Given the description of an element on the screen output the (x, y) to click on. 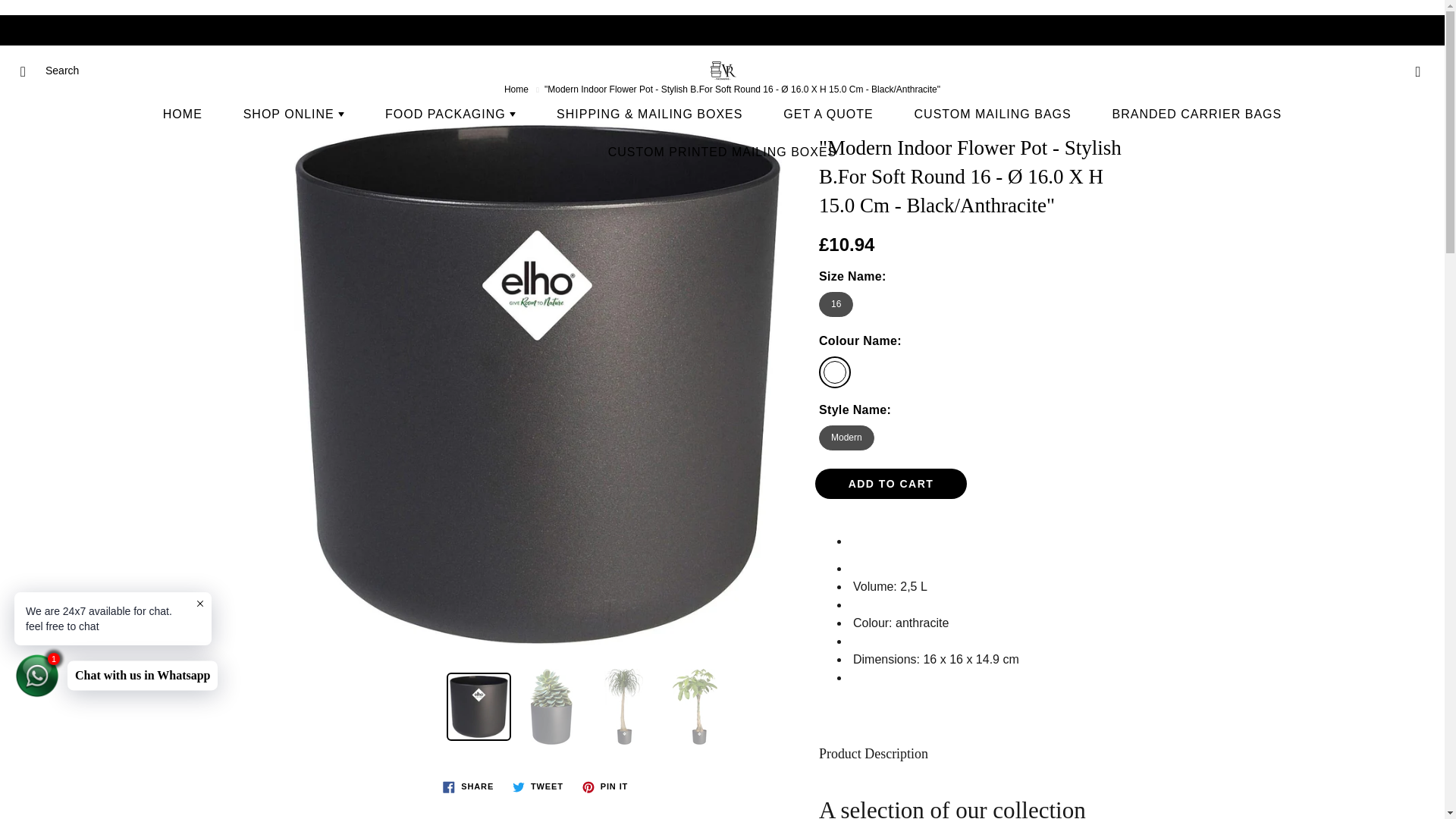
Home (515, 89)
HOME (182, 114)
GET A QUOTE (827, 114)
FOOD PACKAGING (450, 114)
BRANDED CARRIER BAGS (1197, 114)
CUSTOM PRINTED MAILING BOXES (722, 152)
You have 0 items in your cart (1417, 71)
Search (28, 71)
CUSTOM MAILING BAGS (992, 114)
SHOP ONLINE (294, 114)
